Given the description of an element on the screen output the (x, y) to click on. 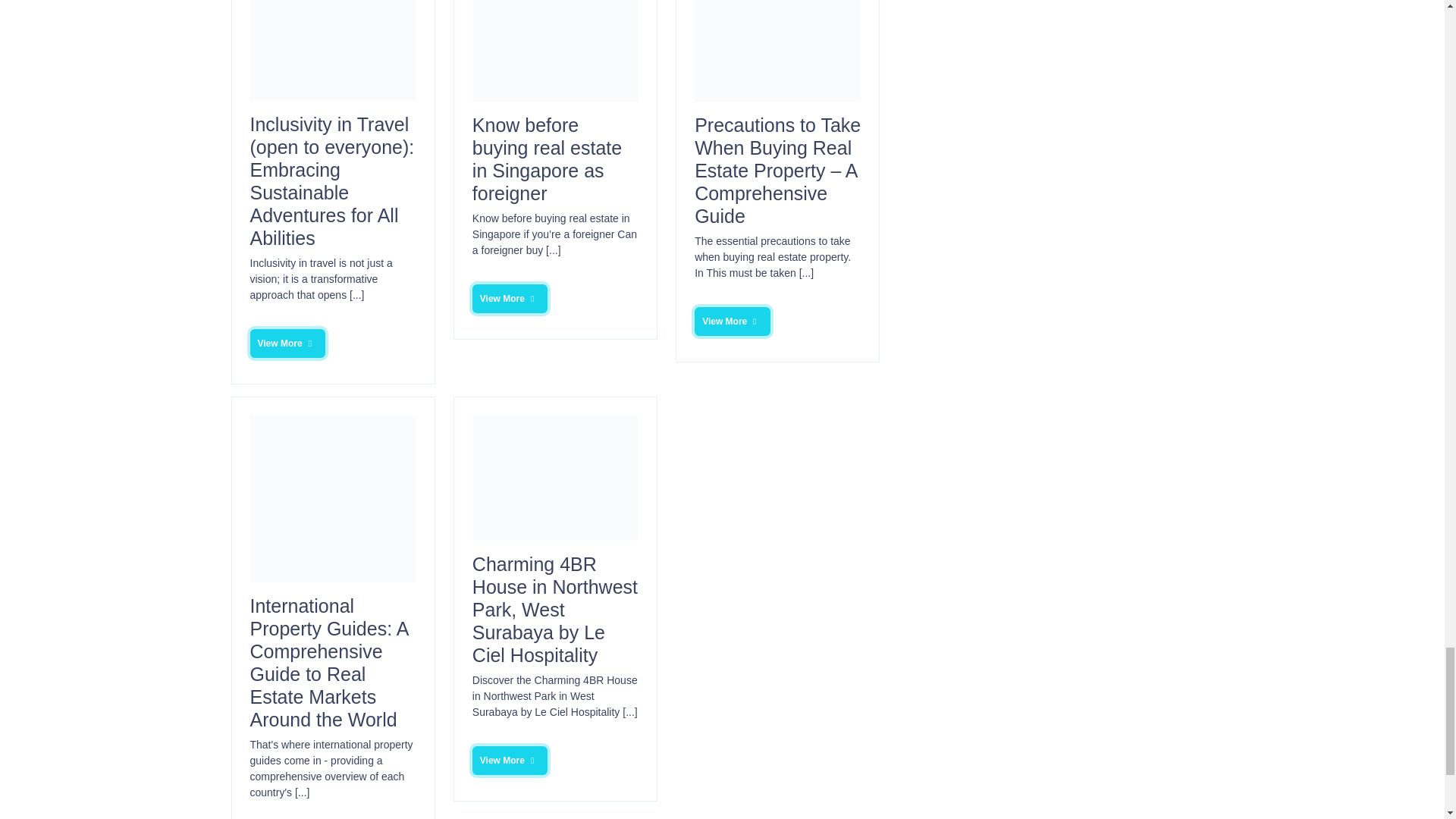
View More (509, 298)
View More (732, 321)
View More (509, 760)
View More (288, 343)
